Given the description of an element on the screen output the (x, y) to click on. 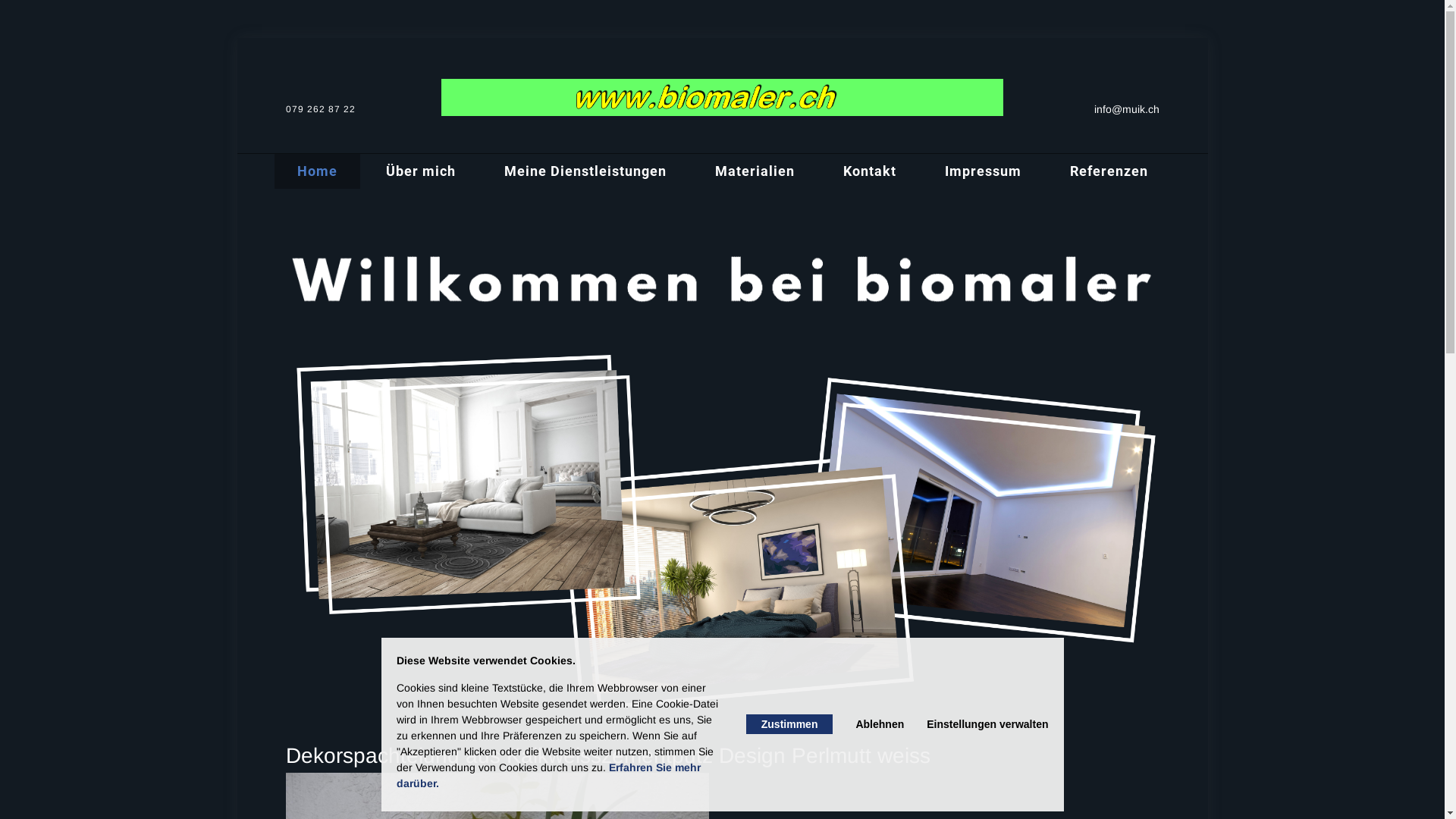
Ablehnen Element type: text (879, 724)
Meine Dienstleistungen Element type: text (584, 170)
Impressum Element type: text (983, 170)
Kontakt Element type: text (869, 170)
Zustimmen Element type: text (789, 724)
Materialien Element type: text (753, 170)
Home Element type: text (317, 170)
Einstellungen verwalten Element type: text (987, 724)
Referenzen Element type: text (1108, 170)
info@muik.ch Element type: text (1081, 109)
